Given the description of an element on the screen output the (x, y) to click on. 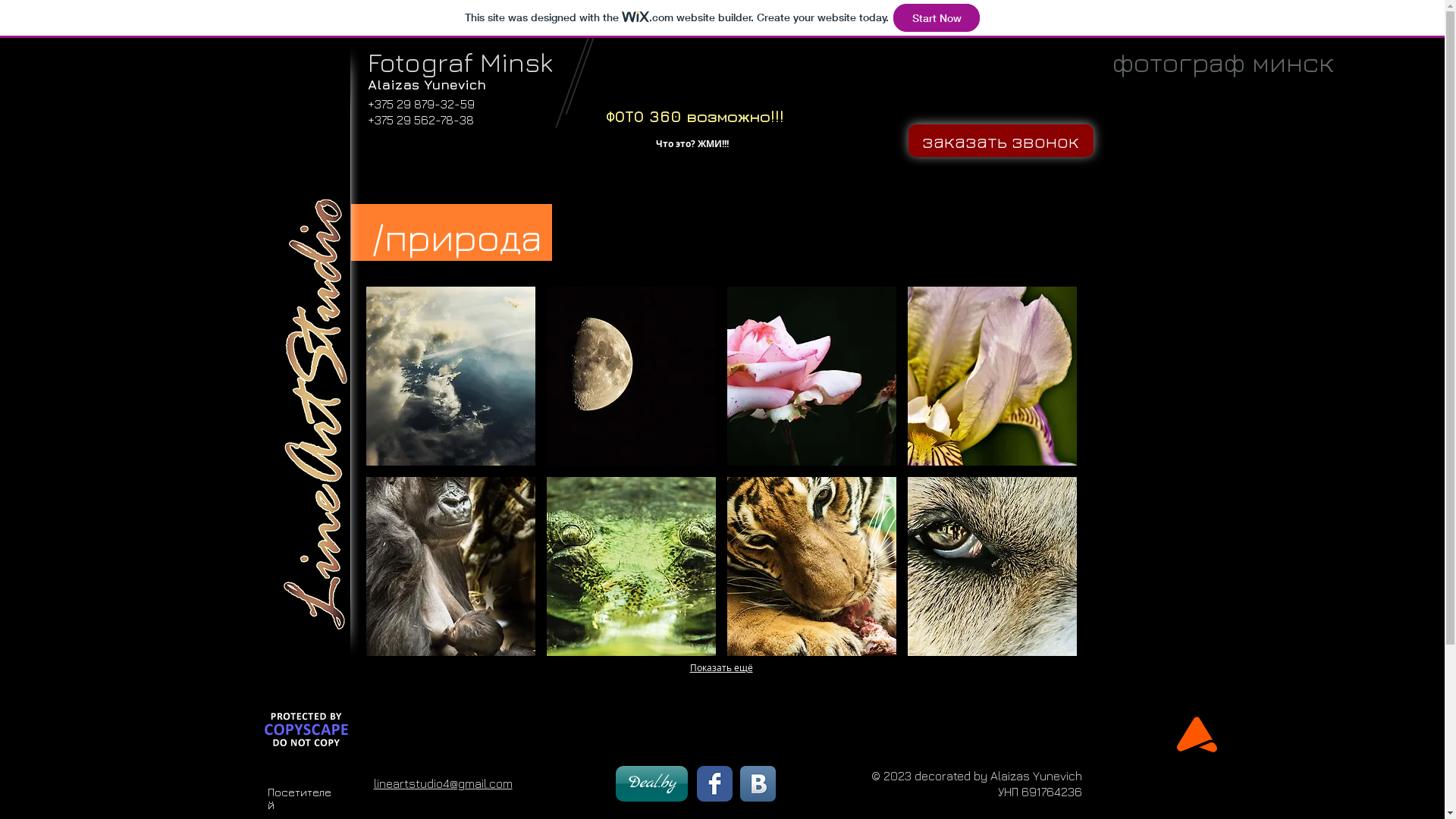
+375 29 879-32-59 +375 29 562-78-38 Element type: text (420, 111)
Deal.by Element type: text (651, 783)
lineartstudio4@gmail.com Element type: text (442, 783)
